Given the description of an element on the screen output the (x, y) to click on. 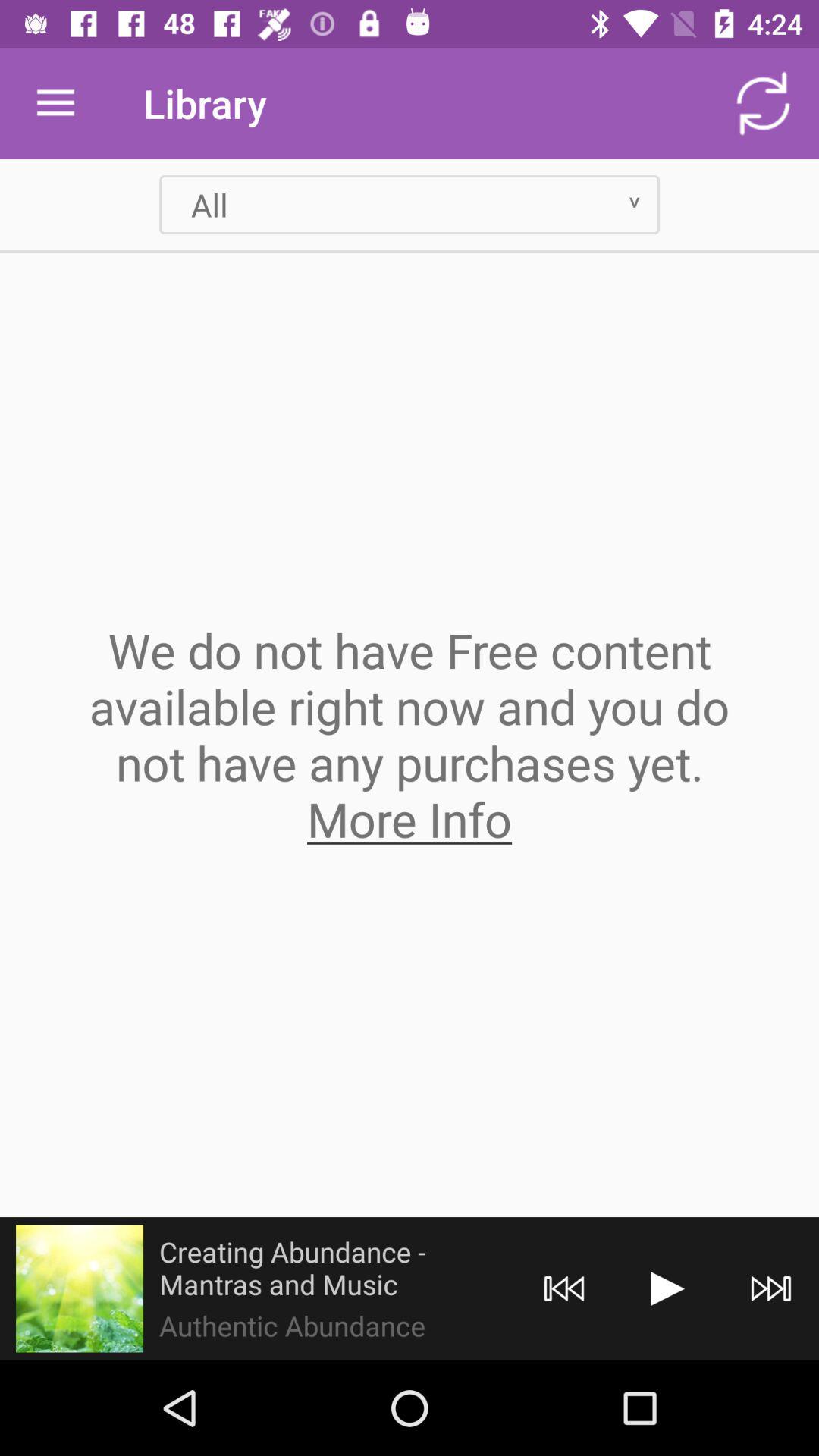
tap the we do not (409, 734)
